Given the description of an element on the screen output the (x, y) to click on. 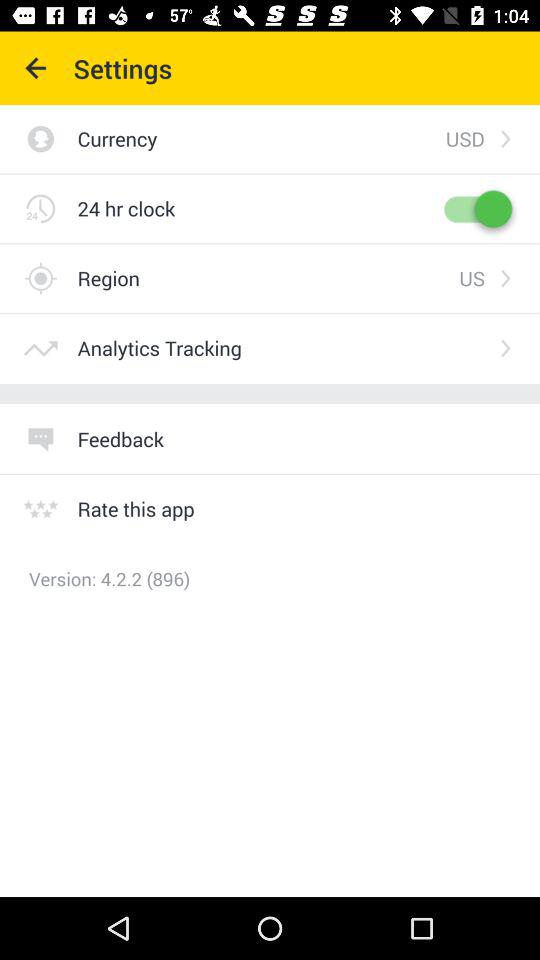
open item next to the 24 hr clock (475, 208)
